Given the description of an element on the screen output the (x, y) to click on. 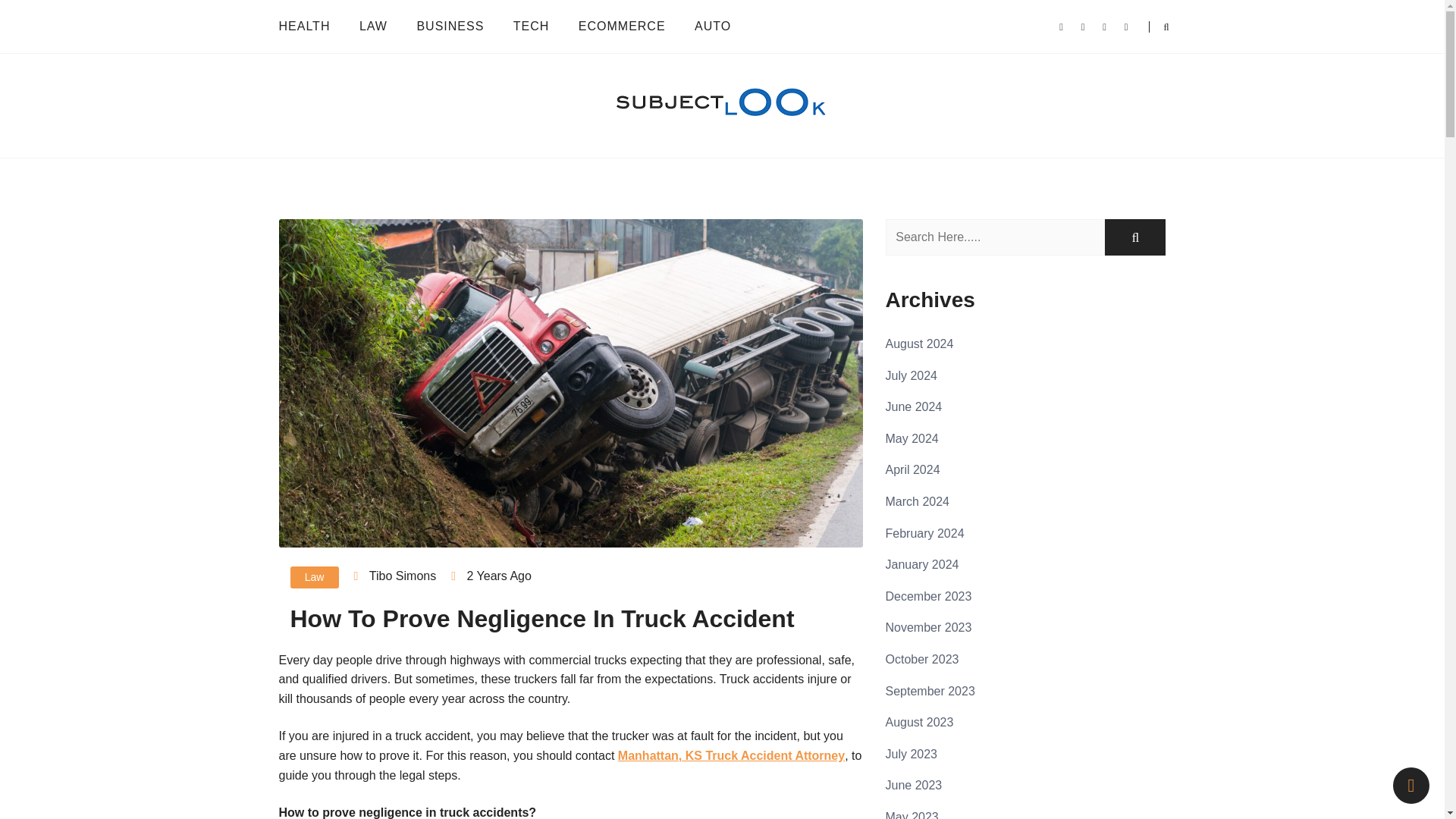
HEALTH (311, 26)
SUBJECT LOOK (373, 152)
March 2024 (917, 501)
November 2023 (928, 626)
February 2024 (924, 533)
August 2023 (919, 721)
April 2024 (912, 469)
BUSINESS (449, 26)
2 Years Ago (498, 575)
May 2024 (912, 438)
